Given the description of an element on the screen output the (x, y) to click on. 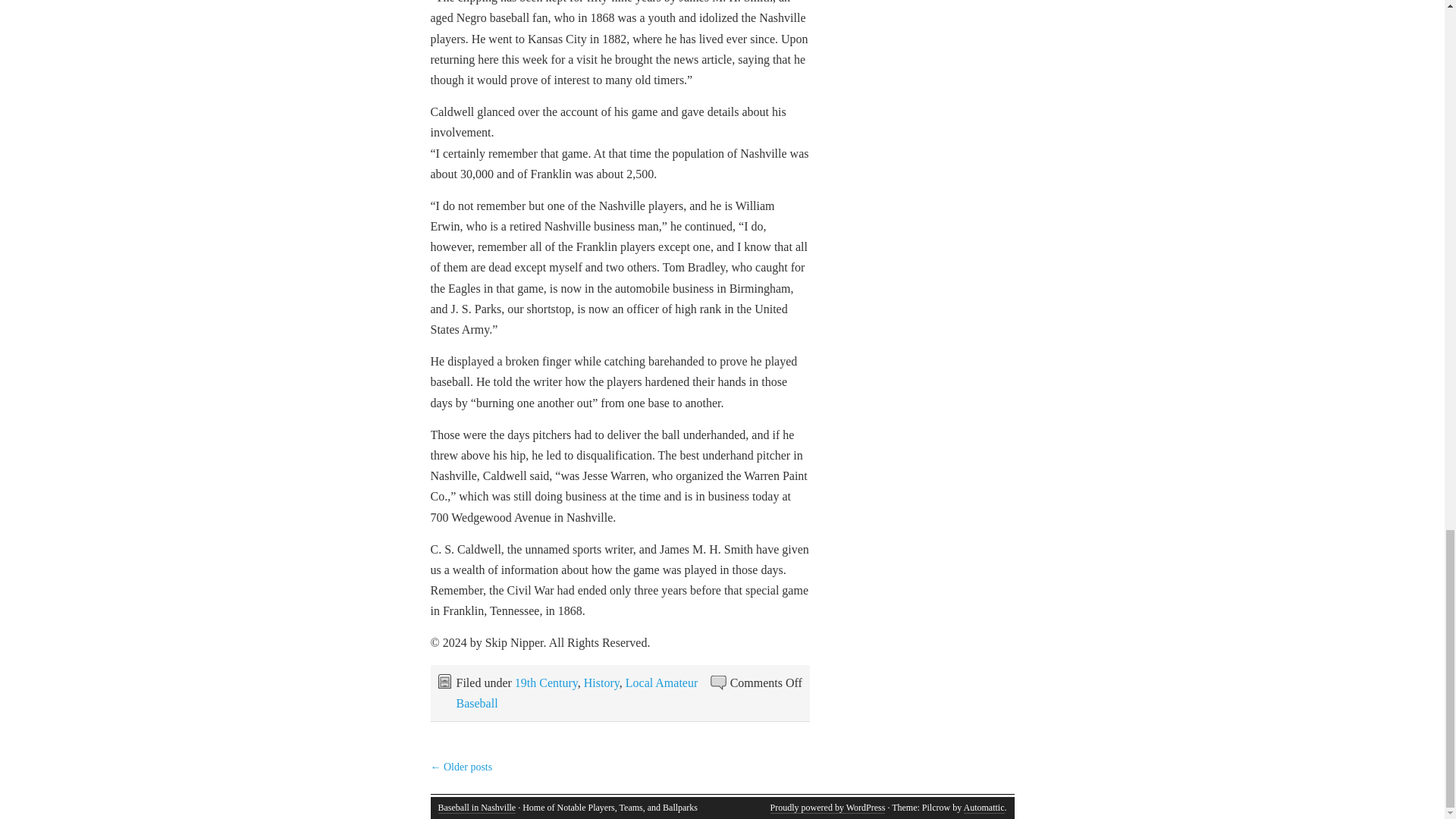
A Semantic Personal Publishing Platform (827, 808)
Local Amateur Baseball (577, 693)
Automattic (983, 808)
19th Century (546, 682)
Baseball in Nashville (477, 808)
Baseball in Nashville (477, 808)
History (601, 682)
Proudly powered by WordPress (827, 808)
